Given the description of an element on the screen output the (x, y) to click on. 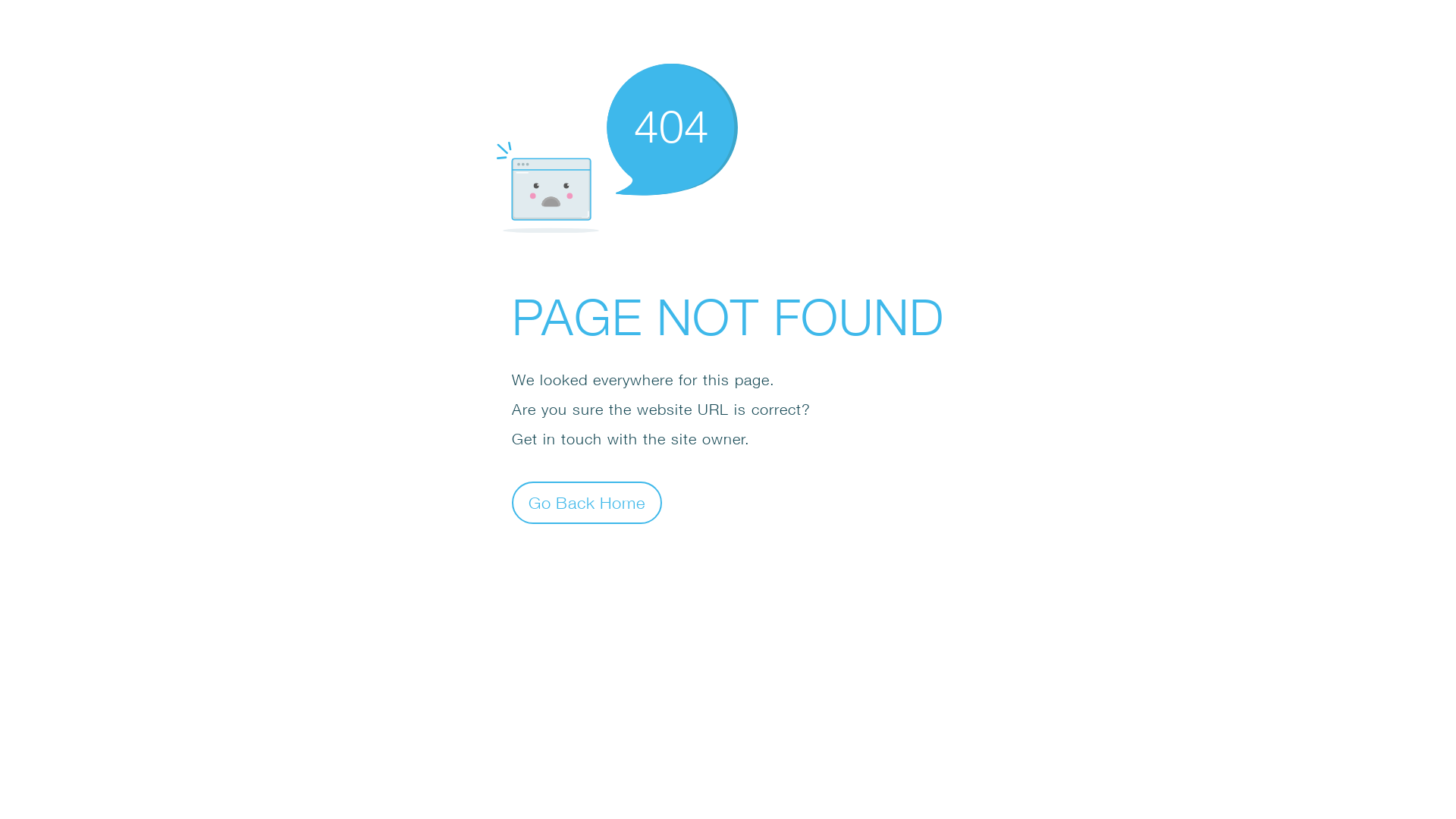
Go Back Home Element type: text (586, 502)
